Given the description of an element on the screen output the (x, y) to click on. 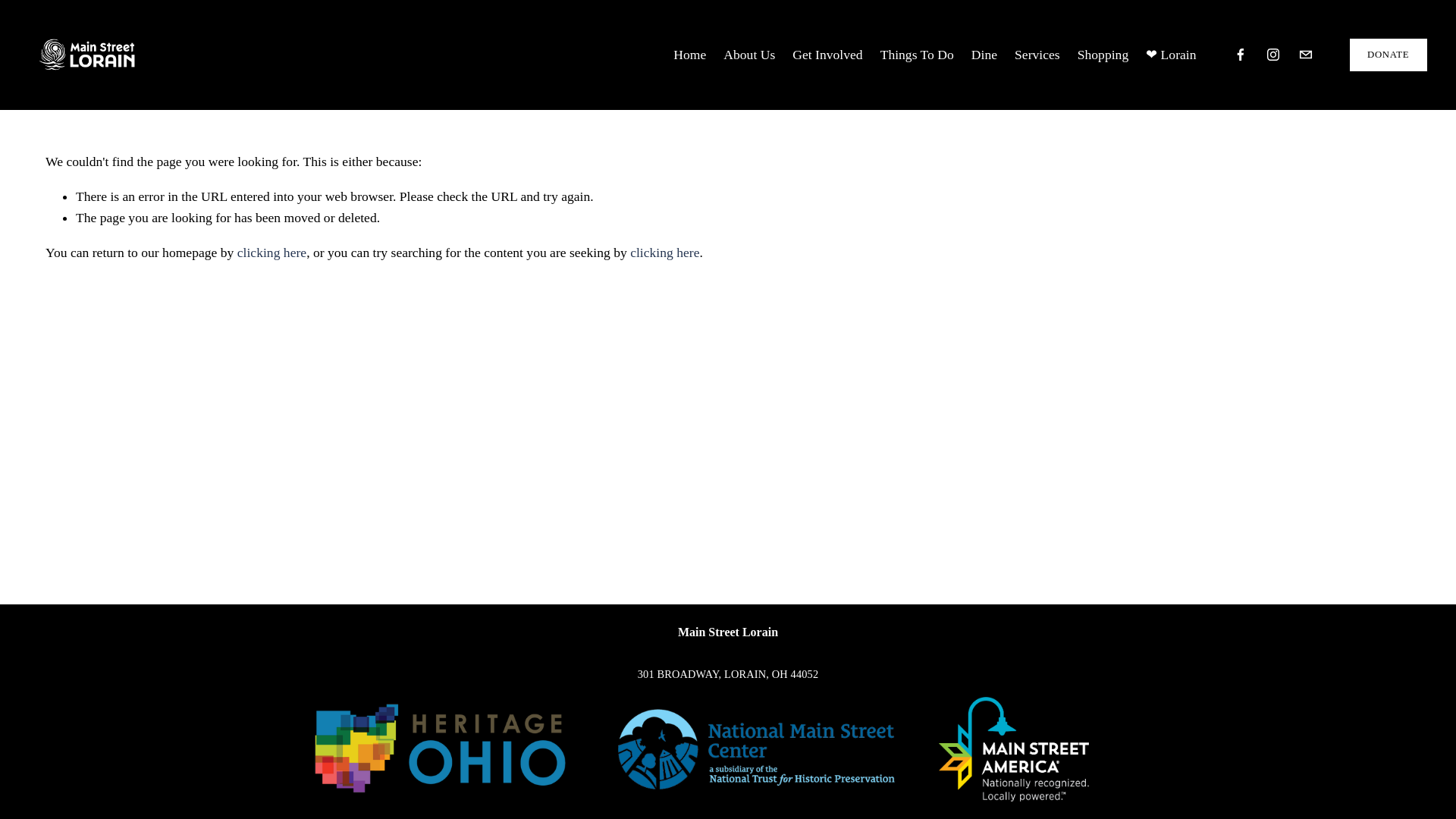
Services (1036, 55)
Dine (984, 55)
About Us (748, 55)
Things To Do (916, 55)
DONATE (1387, 54)
Home (689, 55)
Get Involved (826, 55)
Shopping (1102, 55)
